Given the description of an element on the screen output the (x, y) to click on. 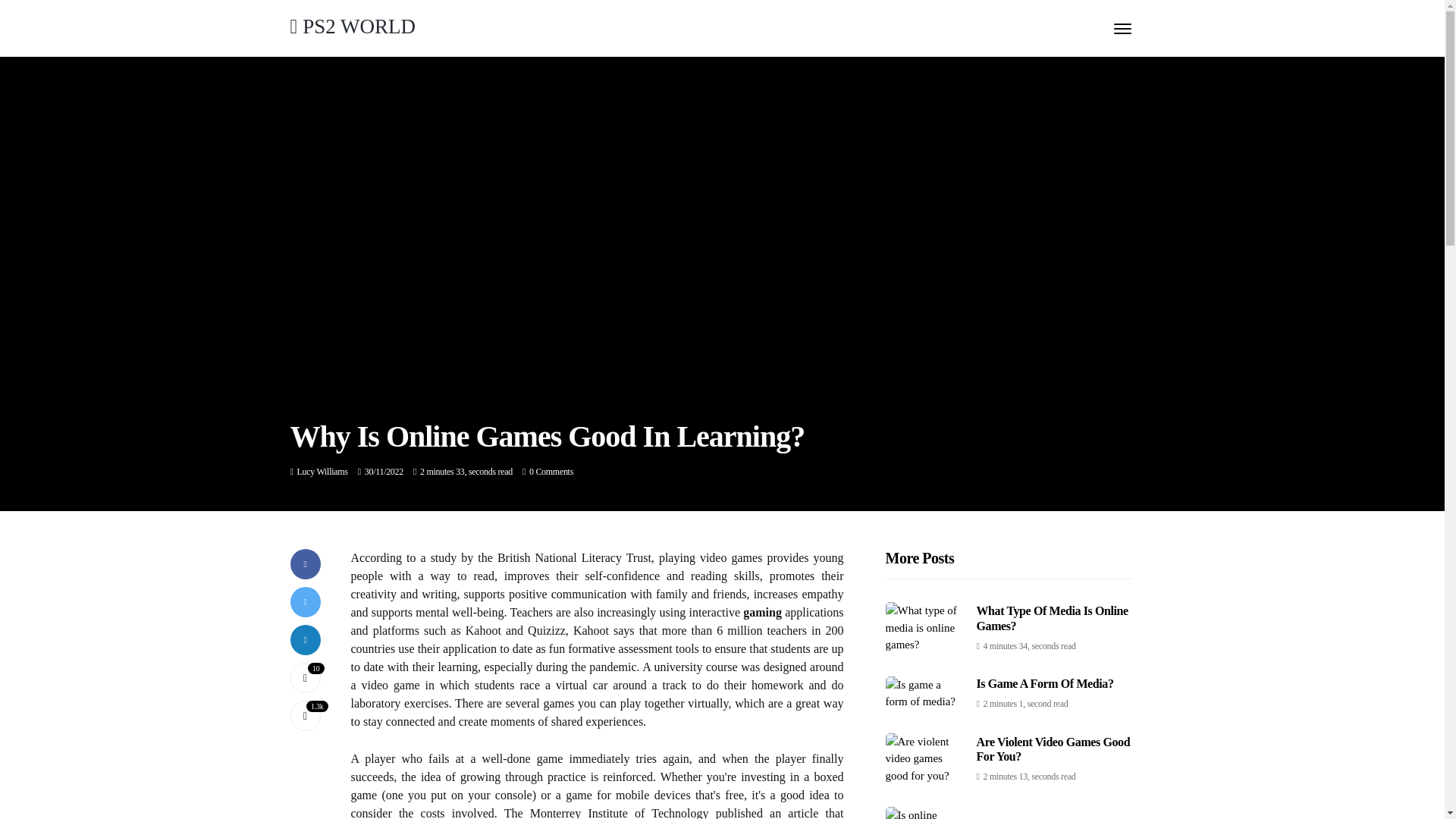
Posts by Lucy Williams (322, 471)
Lucy Williams (322, 471)
What Type Of Media Is Online Games? (1052, 617)
PS2 WORLD (351, 26)
Are Violent Video Games Good For You? (1053, 748)
Is Game A Form Of Media? (1044, 683)
10 (304, 677)
Like (304, 677)
0 Comments (551, 471)
